Given the description of an element on the screen output the (x, y) to click on. 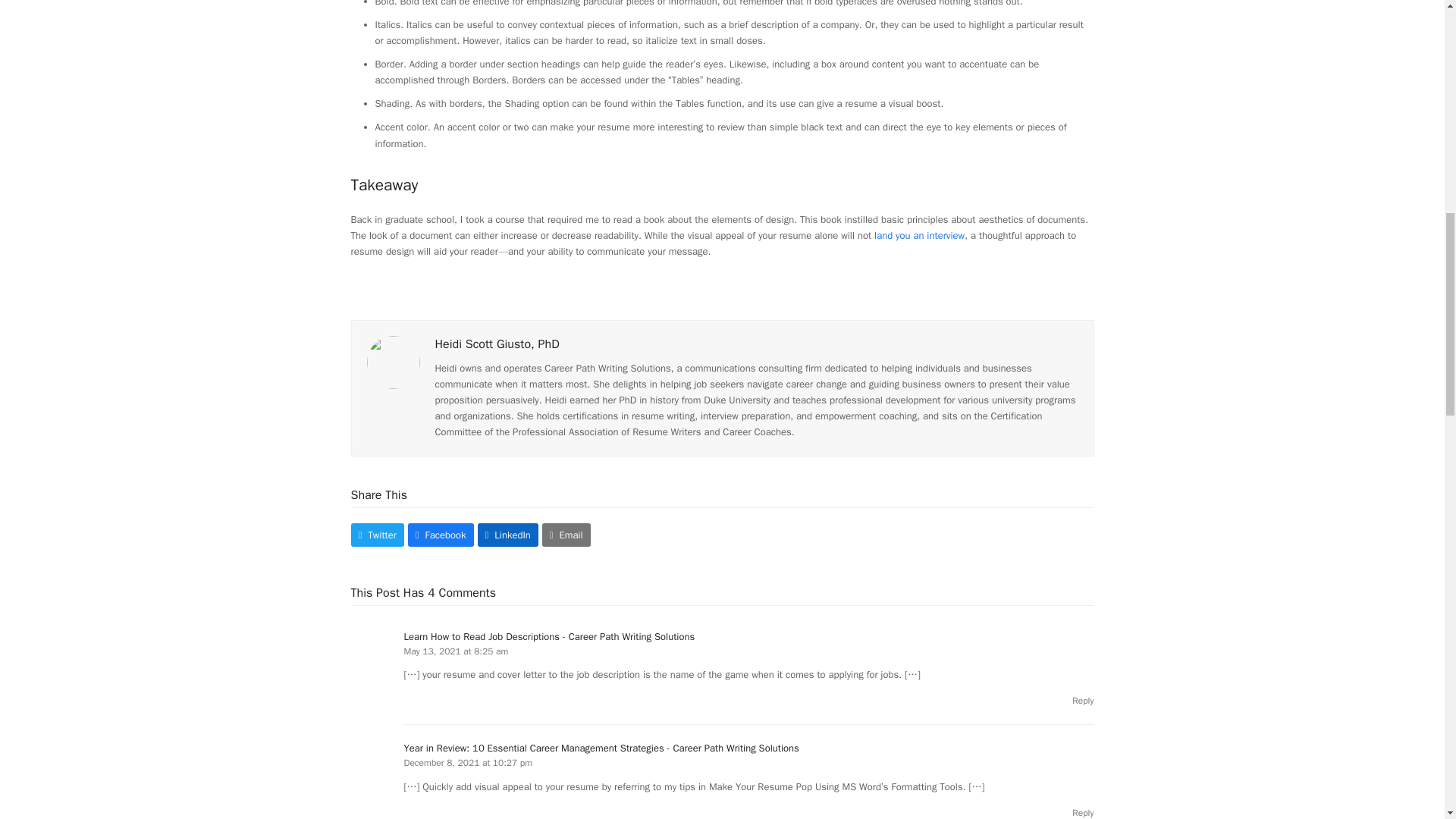
Visit Author Page (393, 360)
Reply (1082, 700)
Reply (1082, 812)
December 8, 2021 at 10:27 pm (467, 762)
Email (566, 535)
Heidi Scott Giusto, PhD (497, 344)
Reply (1082, 700)
Visit Author Page (497, 344)
May 13, 2021 at 8:25 am (455, 651)
LinkedIn (507, 535)
Facebook (440, 535)
land you an interview (919, 235)
Reply (1082, 812)
